Given the description of an element on the screen output the (x, y) to click on. 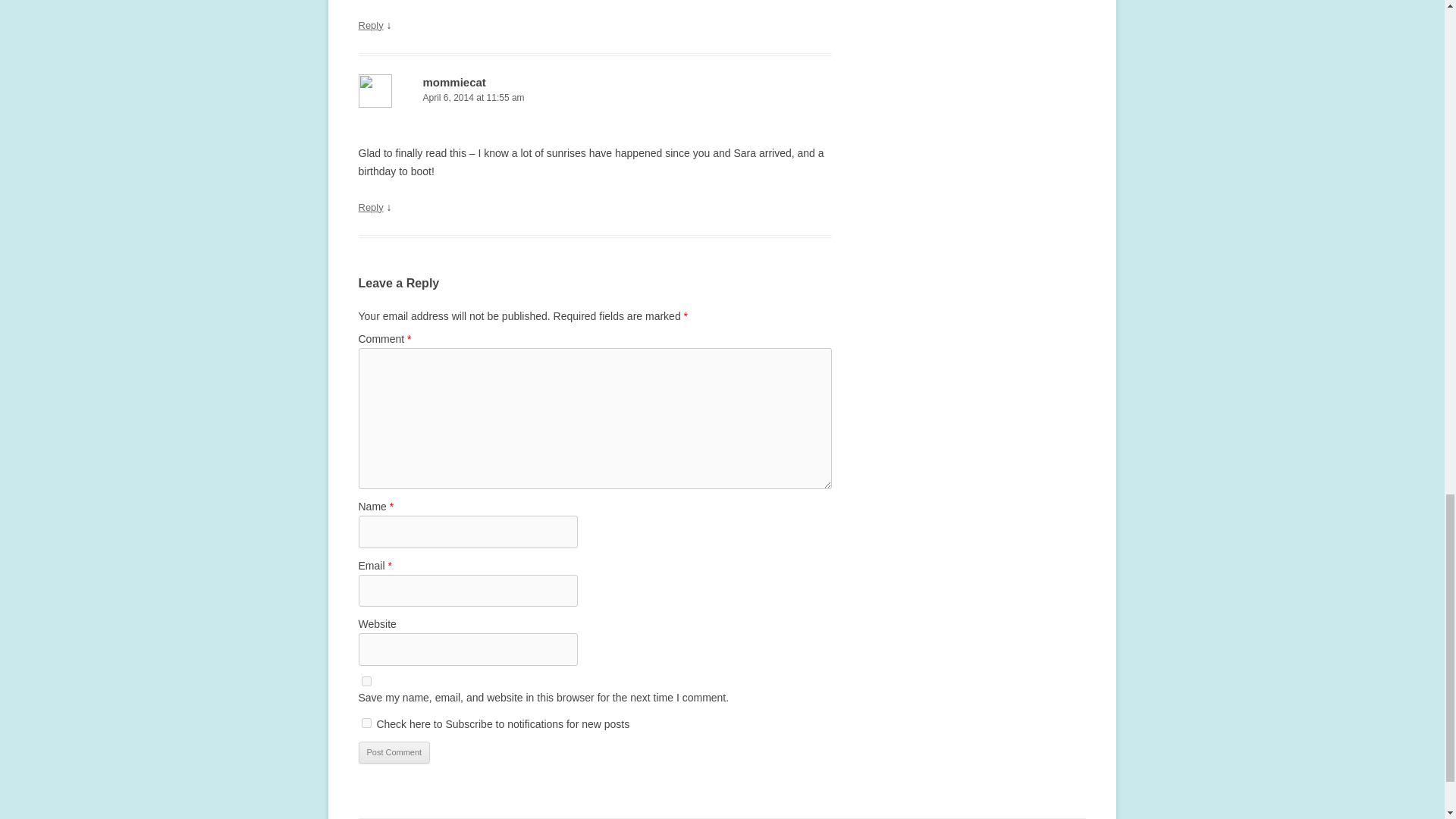
Reply (370, 25)
Reply (370, 206)
Post Comment (393, 753)
Post Comment (393, 753)
yes (366, 681)
1 (366, 723)
April 6, 2014 at 11:55 am (594, 98)
